Given the description of an element on the screen output the (x, y) to click on. 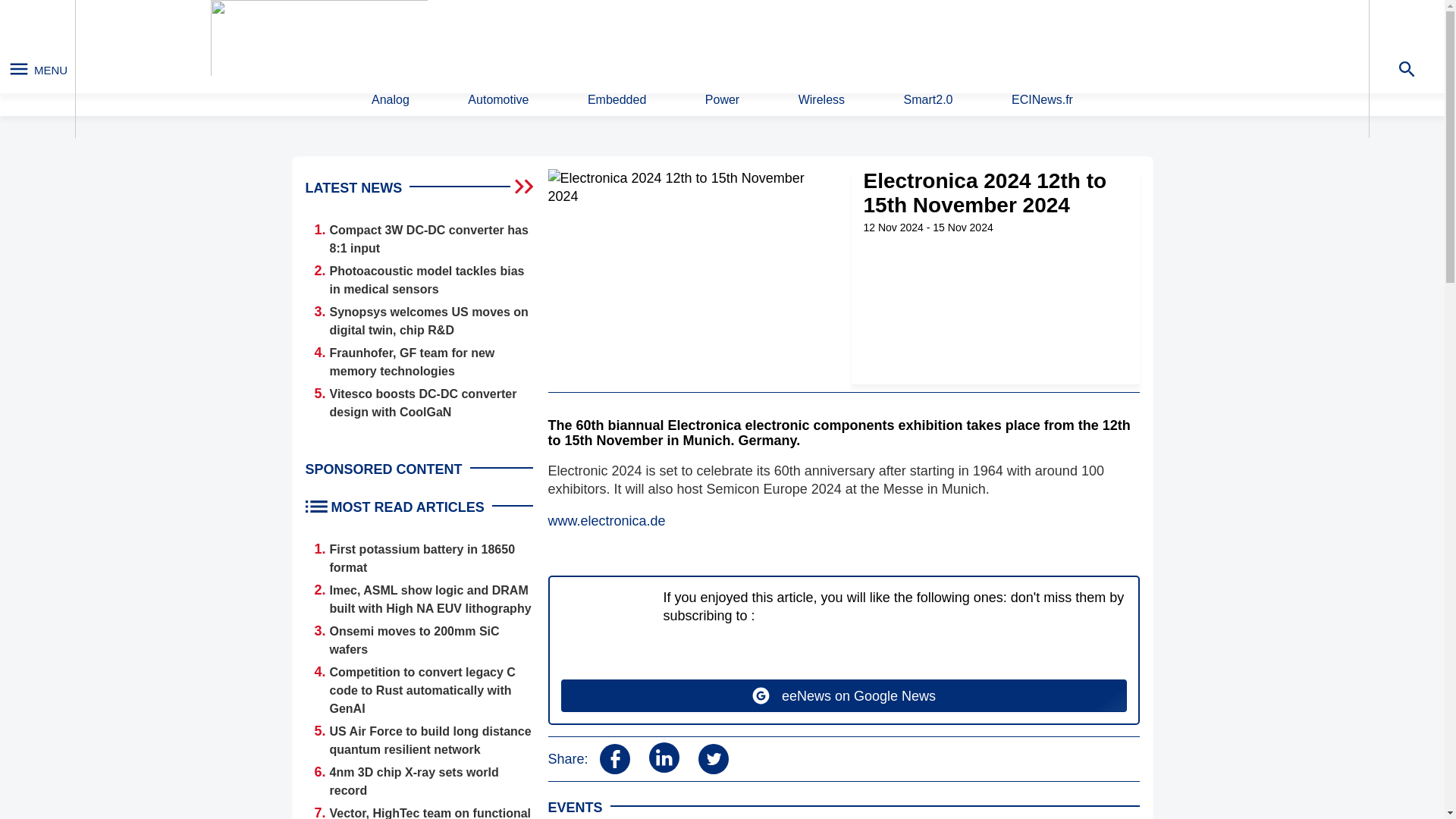
Smart2.0 (928, 99)
ECINews.fr (1042, 99)
Wireless (820, 99)
Analog (390, 99)
Embedded (617, 99)
Power (721, 99)
Search (949, 40)
Automotive (497, 99)
